Given the description of an element on the screen output the (x, y) to click on. 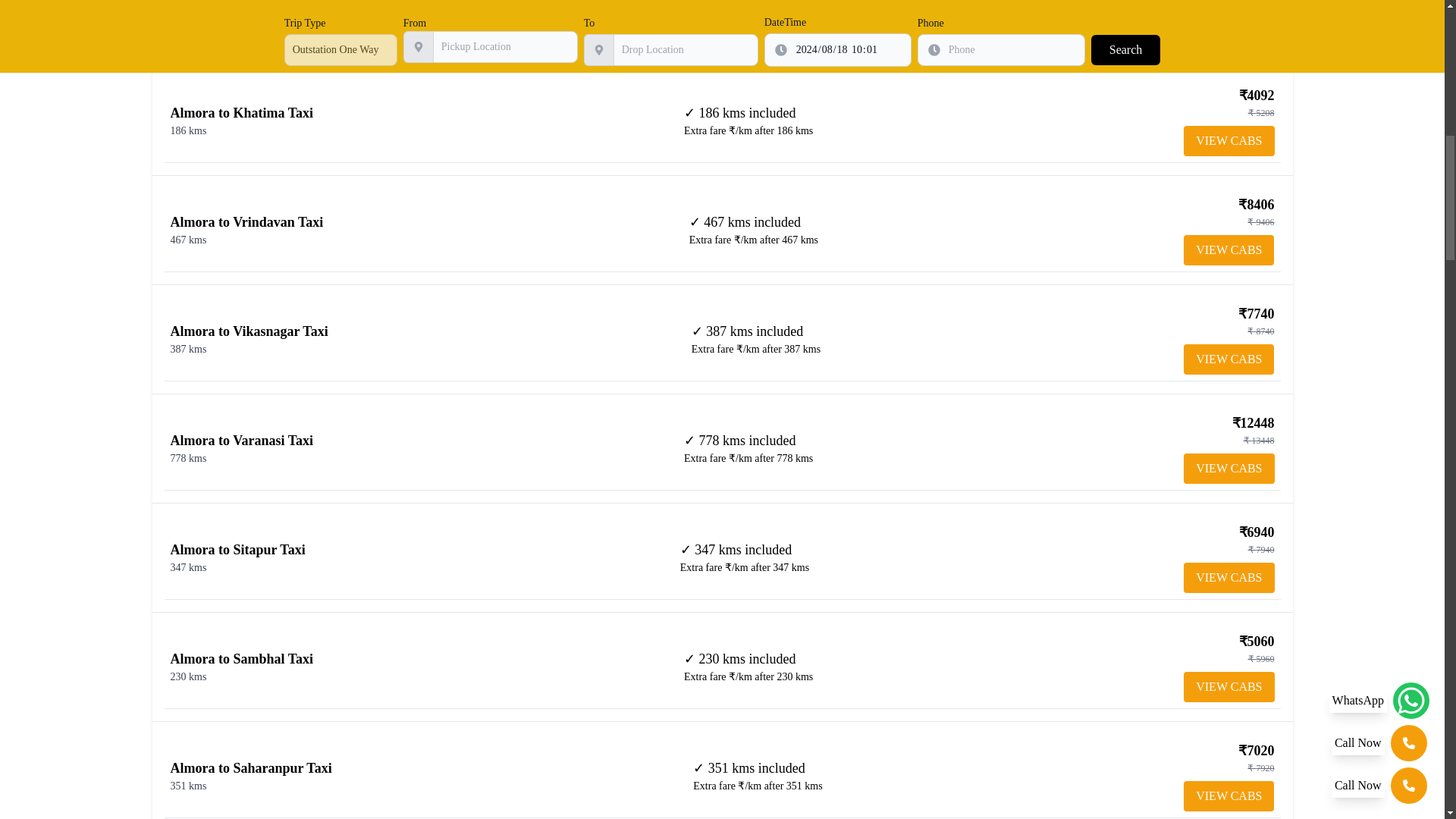
Almora to Khatima Taxi (241, 111)
VIEW CABS (1228, 796)
Almora to Sitapur Taxi (237, 548)
VIEW CABS (1228, 141)
VIEW CABS (1228, 577)
VIEW CABS (1228, 358)
VIEW CABS (1228, 468)
Almora to Saharanpur Taxi (250, 767)
VIEW CABS (1228, 250)
VIEW CABS (1228, 686)
